Given the description of an element on the screen output the (x, y) to click on. 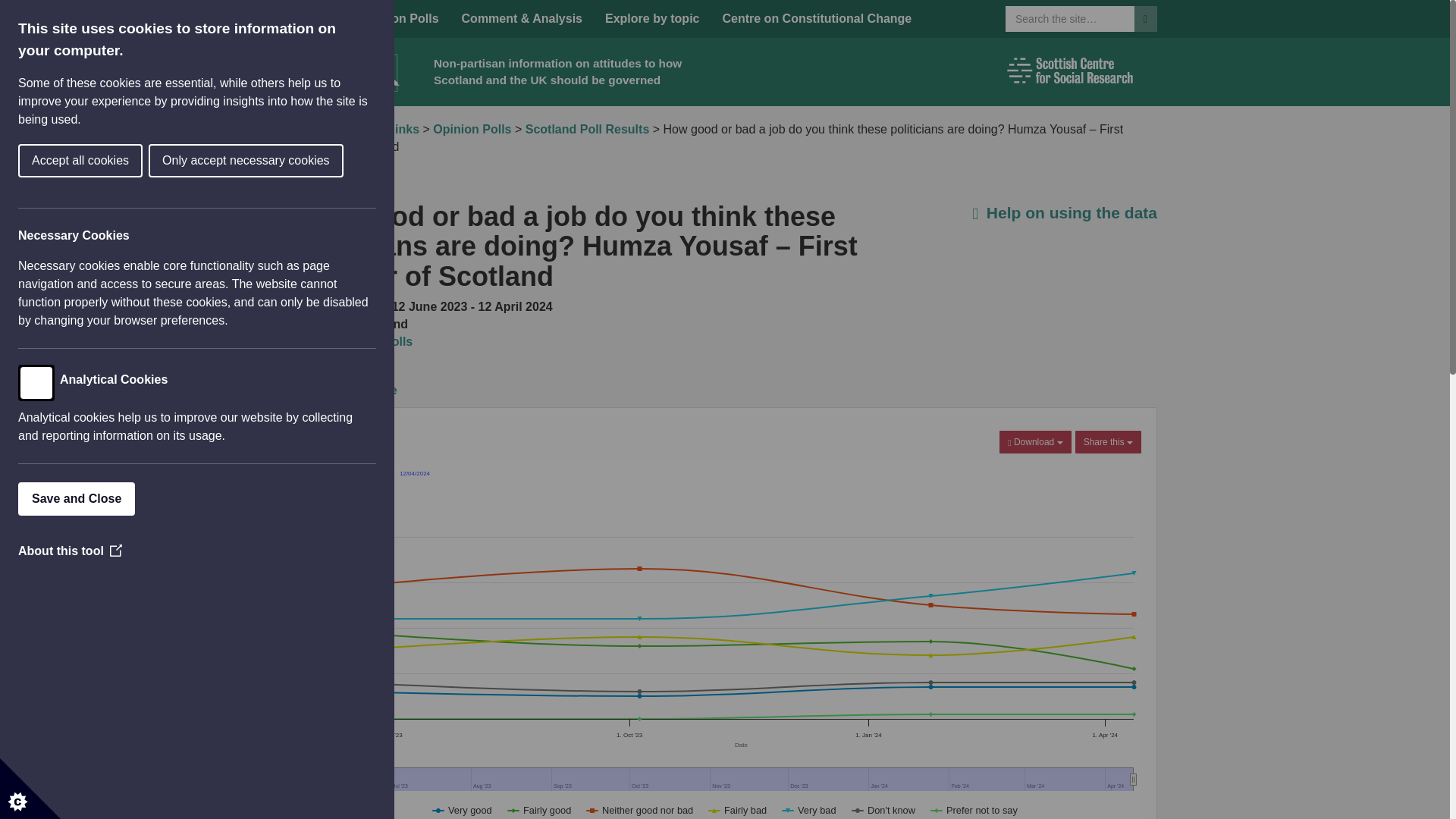
Go to Scotland Poll Results. (587, 128)
Table (381, 390)
Opinion Polls (399, 18)
Opinion Polls (471, 128)
Home (320, 18)
4 polls (393, 341)
What Scotland Thinks (355, 128)
Download (1034, 441)
Scotland Poll Results (587, 128)
Graph (322, 390)
Go to What Scotland Thinks. (355, 128)
What Scotland Thinks (488, 98)
Share this (1108, 441)
Opinion Polls (399, 18)
